Given the description of an element on the screen output the (x, y) to click on. 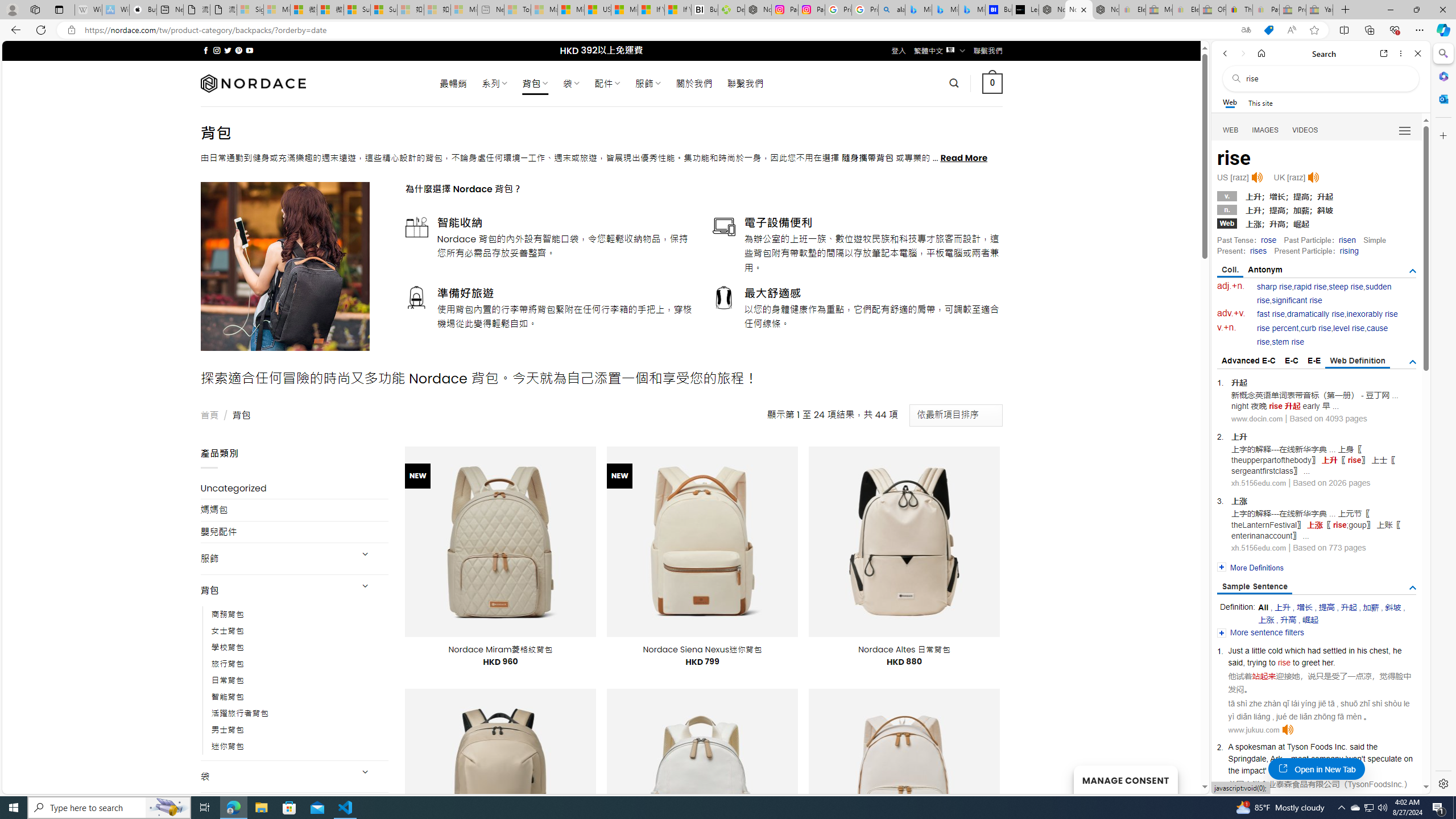
Sign in to your Microsoft account - Sleeping (249, 9)
Follow on YouTube (249, 50)
Follow on Pinterest (237, 50)
settled (1334, 650)
